Given the description of an element on the screen output the (x, y) to click on. 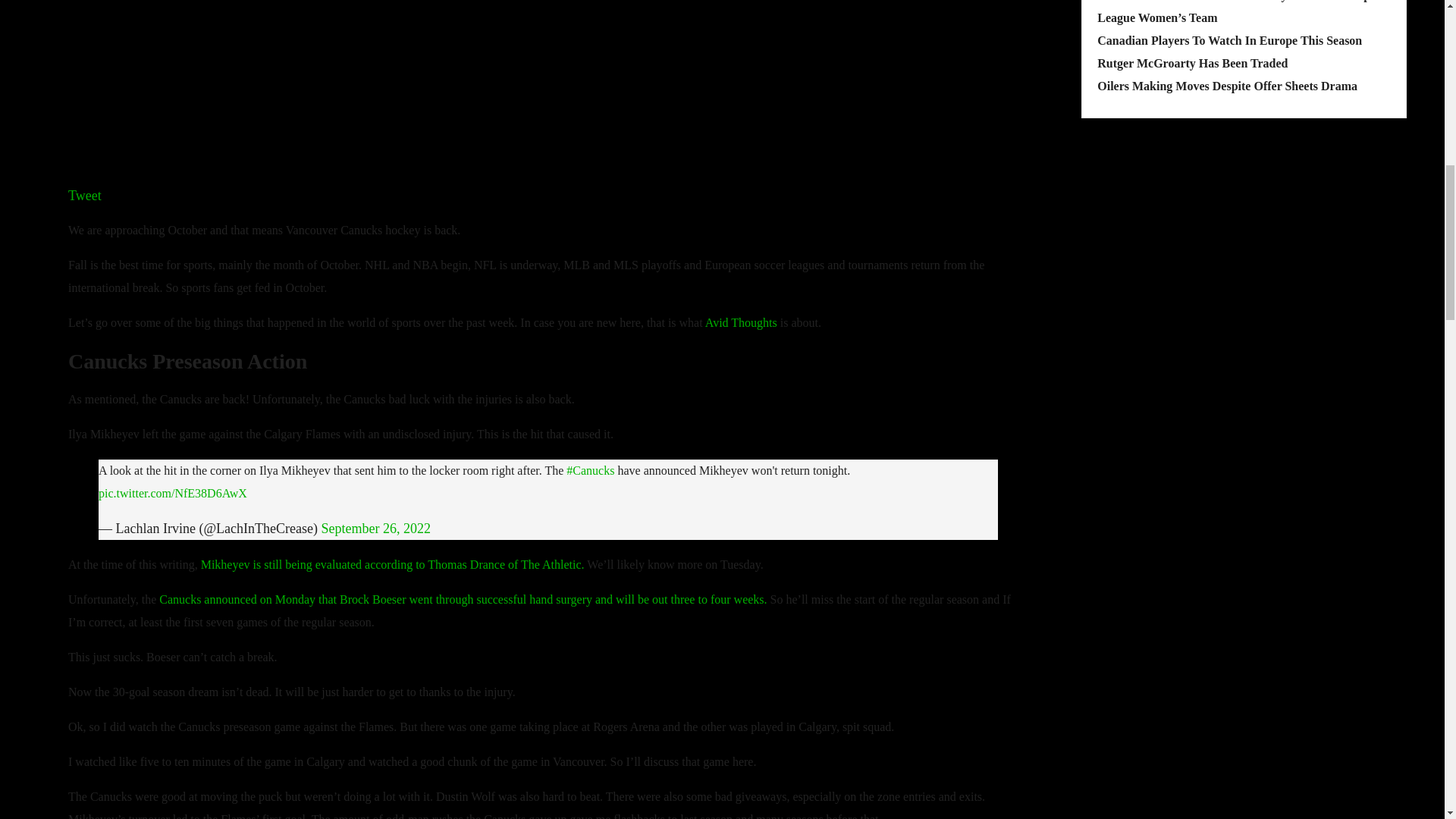
Avid Thoughts (740, 322)
September 26, 2022 (374, 528)
Tweet (84, 195)
